Given the description of an element on the screen output the (x, y) to click on. 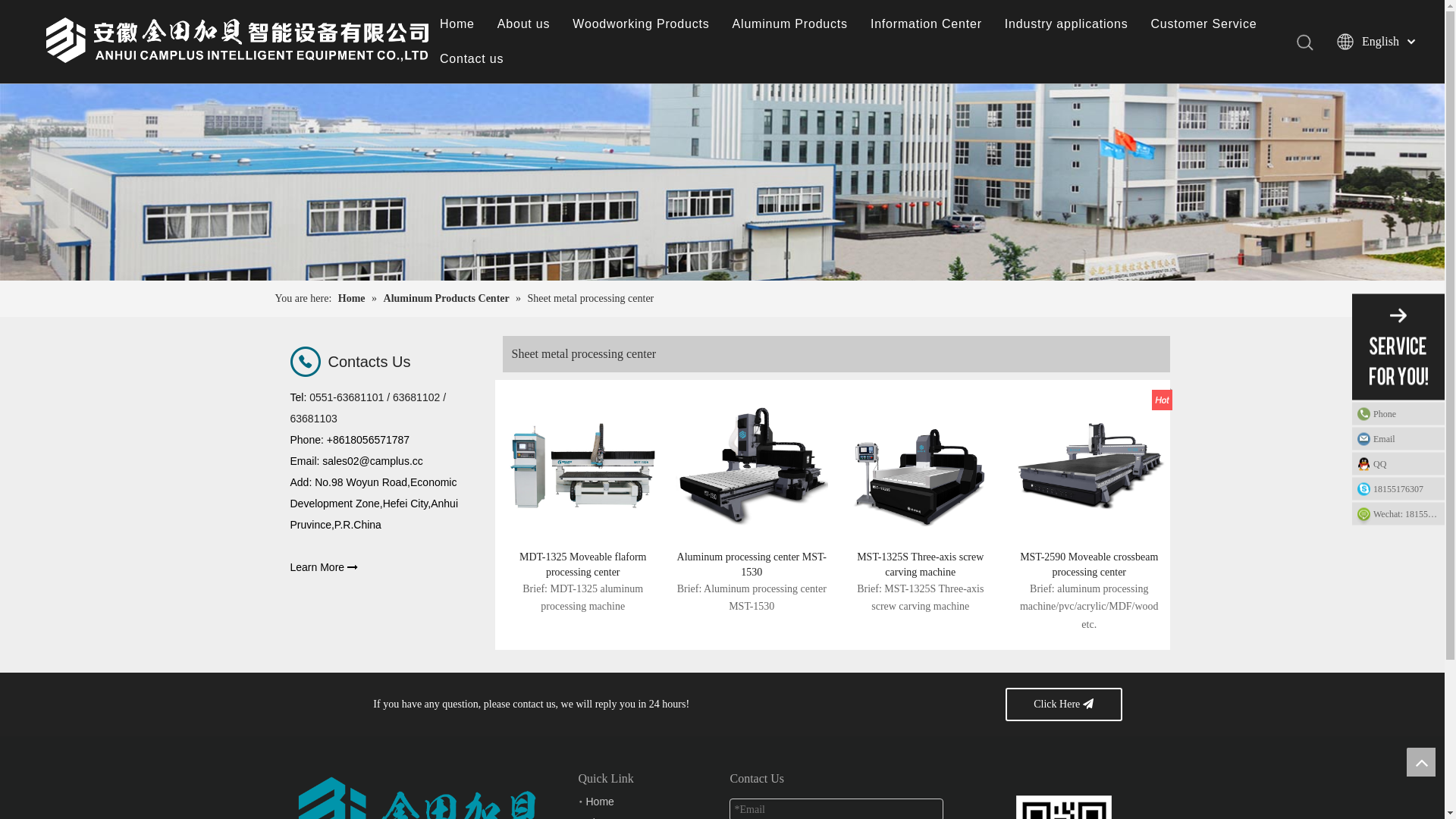
Click Here  Element type: text (1063, 704)
Home Element type: text (352, 298)
Woodworking Products Element type: text (640, 23)
Aluminum Products Center Element type: text (447, 298)
Aluminum processing center MST-1530 Element type: hover (751, 465)
Aluminum Products Element type: text (789, 23)
Home Element type: text (456, 23)
MDT-1325 Moveable flaform processing center Element type: text (582, 564)
top Element type: text (1420, 761)
Customer Service Element type: text (1203, 23)
QQ Element type: text (1398, 462)
MST-1325S Three-axis screw carving machine Element type: text (920, 564)
Information Center Element type: text (926, 23)
Email Element type: text (1398, 438)
Aluminum processing center MST-1530 Element type: text (751, 564)
18155176307 Element type: text (1398, 488)
MDT-1325 Moveable flaform processing center Element type: hover (582, 465)
MST-2590 Moveable crossbeam processing center Element type: text (1089, 564)
About us Element type: text (523, 23)
Phone Element type: text (1398, 412)
sales02@camplus.cc Element type: text (372, 461)
Home Element type: text (599, 801)
Industry applications Element type: text (1066, 23)
MST-2590 Moveable crossbeam processing center Element type: hover (1089, 465)
Wechat: 18155176307 Element type: text (1398, 513)
Contact us Element type: text (471, 58)
MST-1325S Three-axis screw carving machine Element type: hover (920, 465)
